Given the description of an element on the screen output the (x, y) to click on. 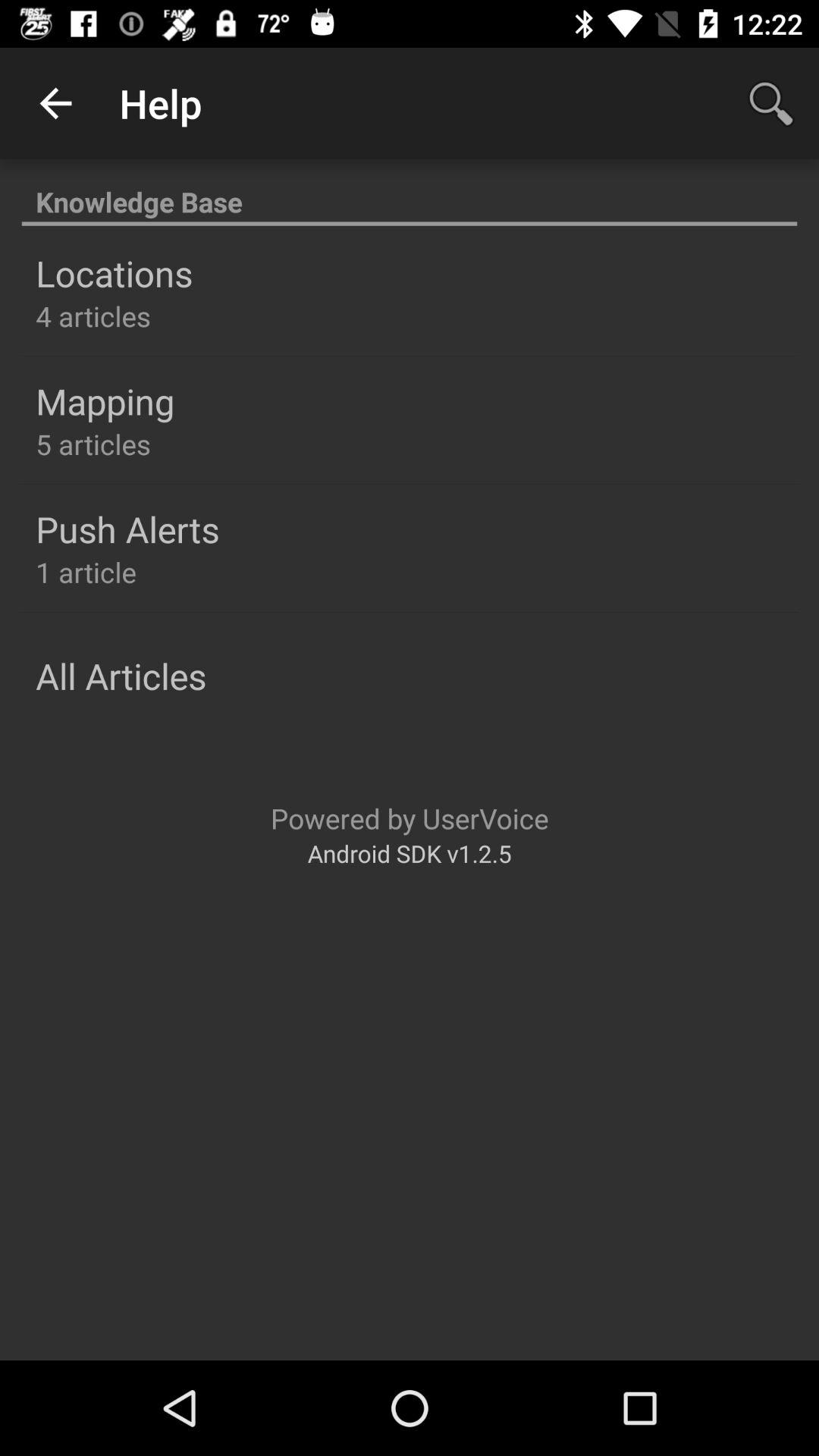
turn off the 5 articles icon (92, 443)
